Given the description of an element on the screen output the (x, y) to click on. 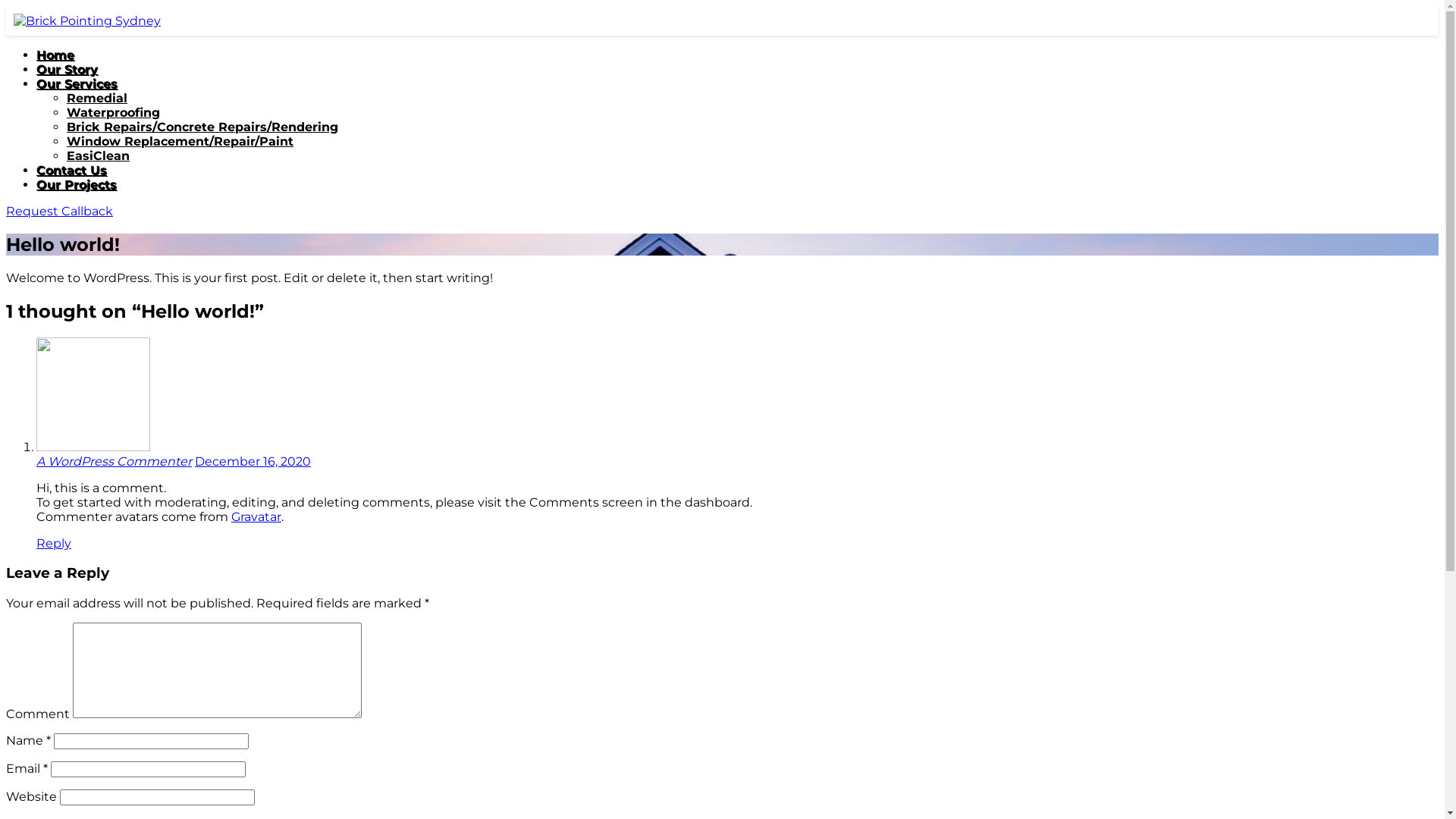
Our Services Element type: text (76, 83)
Gravatar Element type: text (256, 516)
Request Callback Element type: text (59, 210)
December 16, 2020 Element type: text (252, 461)
Brick Repairs/Concrete Repairs/Rendering Element type: text (202, 126)
Waterproofing Element type: text (113, 112)
Reply Element type: text (53, 543)
Home Element type: text (55, 54)
A WordPress Commenter Element type: text (113, 461)
Our Story Element type: text (66, 69)
EasiClean Element type: text (97, 155)
Window Replacement/Repair/Paint Element type: text (179, 141)
Remedial Element type: text (96, 98)
Our Projects Element type: text (76, 184)
Contact Us Element type: text (71, 170)
